Given the description of an element on the screen output the (x, y) to click on. 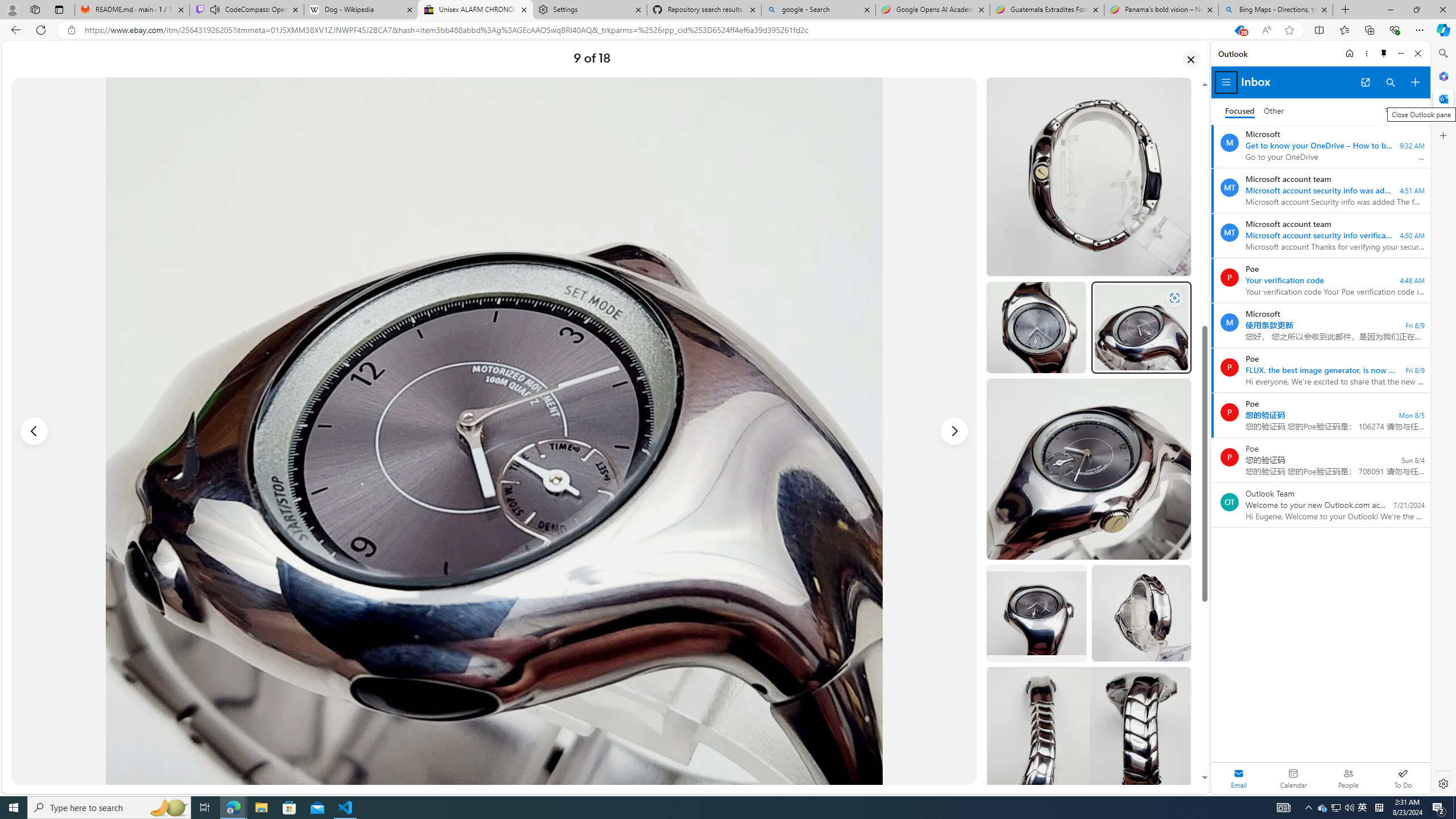
Google Opens AI Academy for Startups - Nearshore Americas (932, 9)
Focused Inbox, toggle to go to Other Inbox (1254, 110)
Close image gallery dialog (1190, 58)
Compose new mail (1414, 82)
Picture 9 of 18 (493, 430)
